Given the description of an element on the screen output the (x, y) to click on. 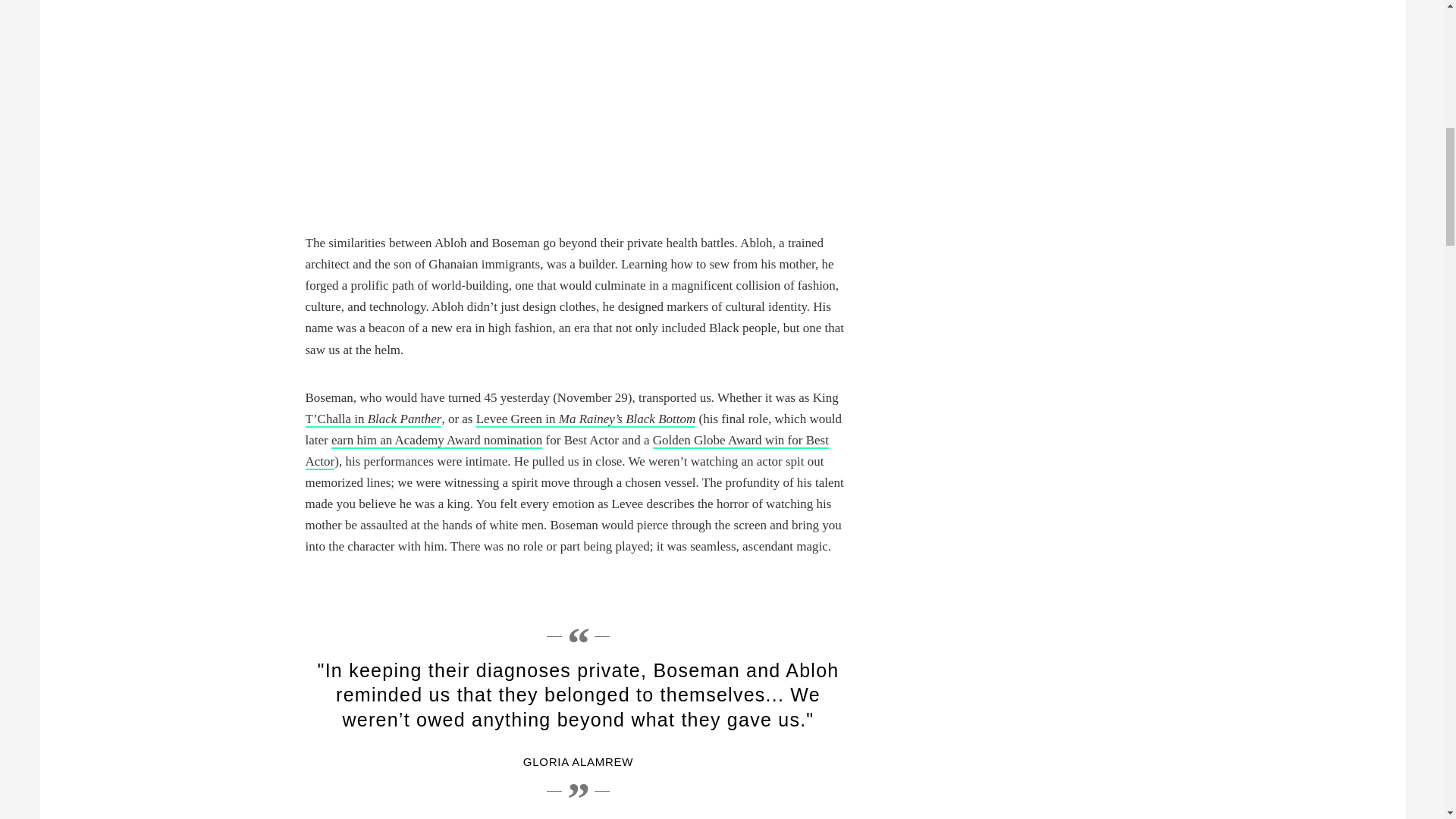
Golden Globe Award win for Best Actor (566, 451)
earn him an Academy Award nomination (436, 440)
